Given the description of an element on the screen output the (x, y) to click on. 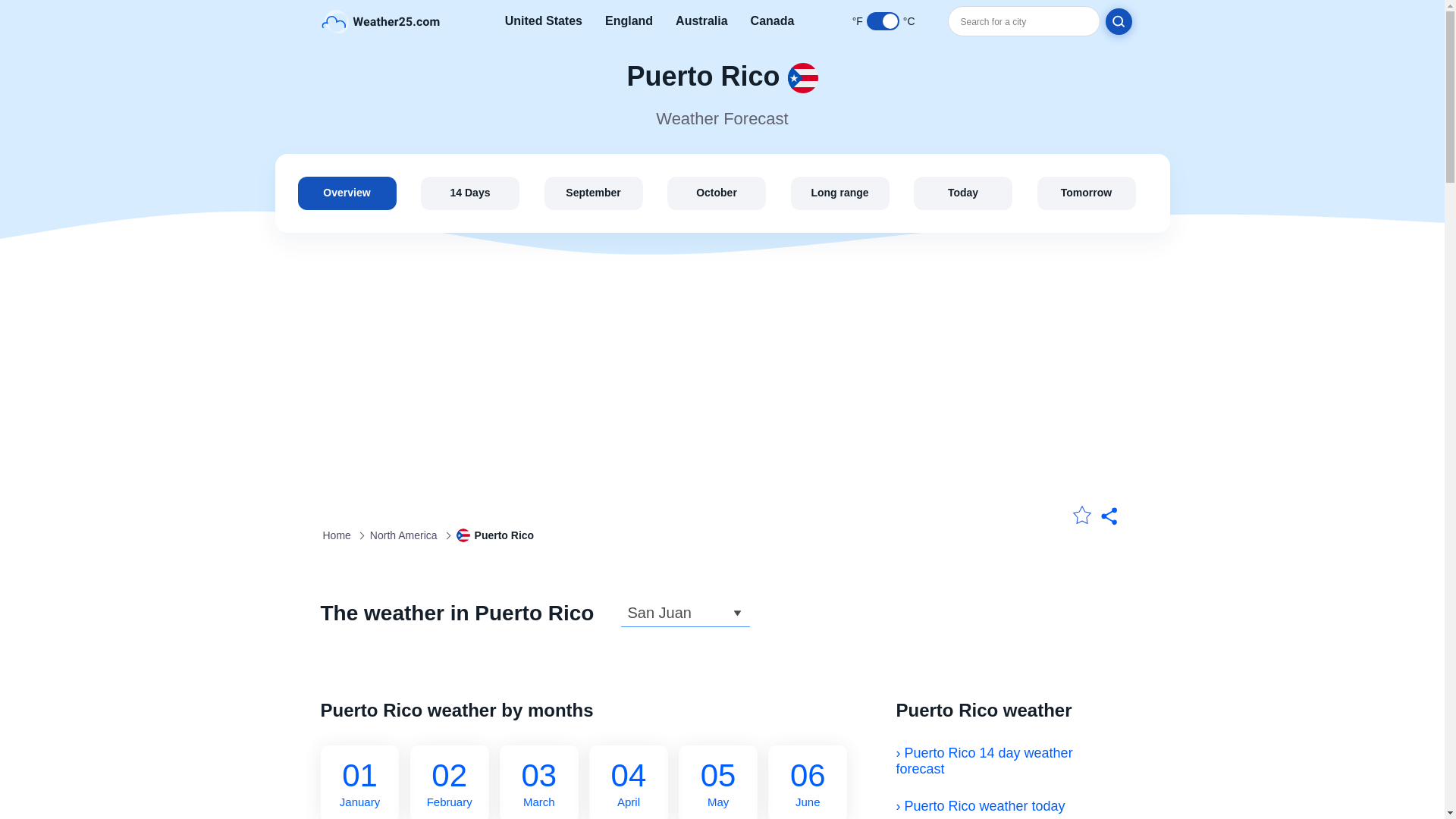
Weather in Australia (700, 20)
England (628, 20)
Puerto Rico weather in February (449, 782)
United States (543, 20)
Weather in England (628, 20)
14 Days (807, 782)
Overview (469, 192)
Australia (346, 192)
Puerto Rico weather in May (700, 20)
